Given the description of an element on the screen output the (x, y) to click on. 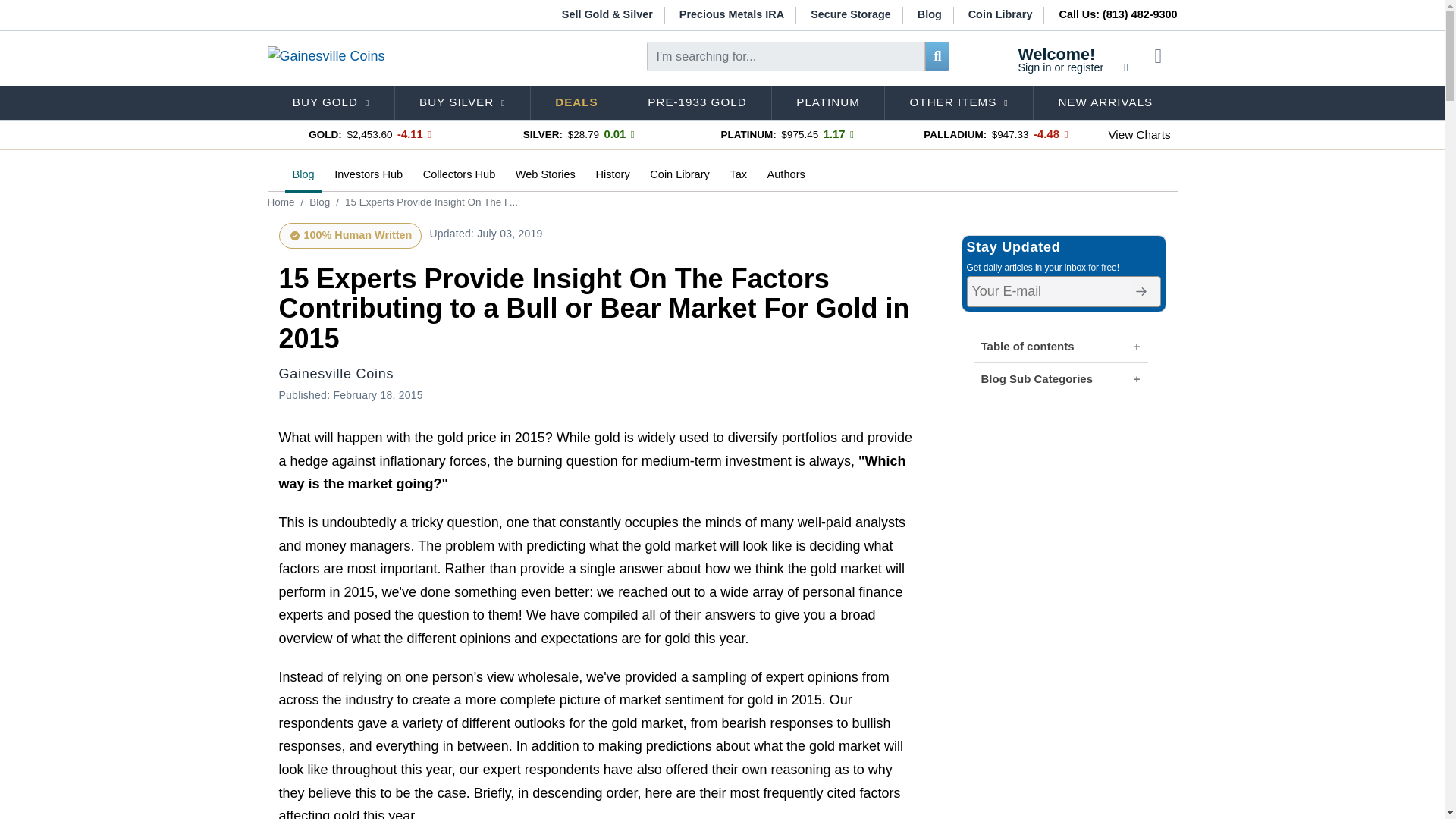
Coin Library (1000, 14)
BUY SILVER (1071, 59)
BUY GOLD (461, 102)
Blog (330, 102)
Precious Metals IRA (929, 14)
Secure Storage (732, 14)
